Given the description of an element on the screen output the (x, y) to click on. 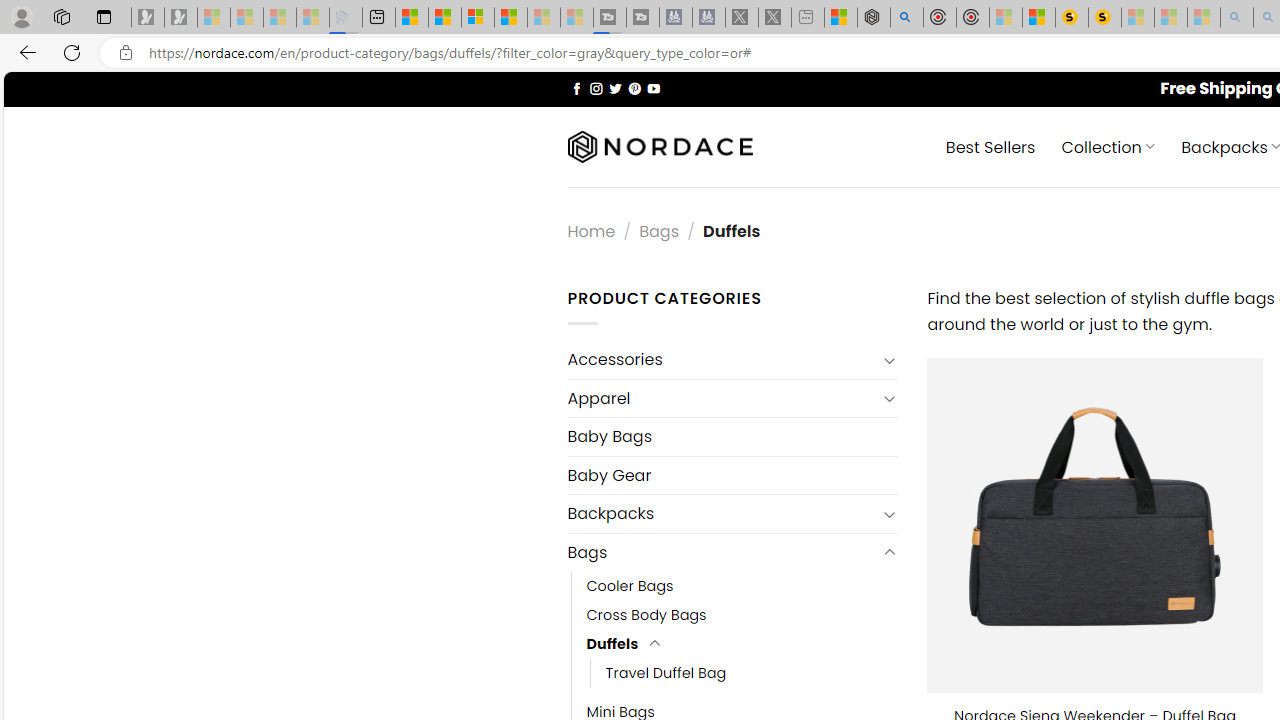
Cross Body Bags (742, 614)
Follow on Twitter (615, 88)
Accessories (721, 359)
Backpacks (721, 514)
Follow on Facebook (576, 88)
Baby Gear (732, 475)
Follow on YouTube (653, 88)
